Given the description of an element on the screen output the (x, y) to click on. 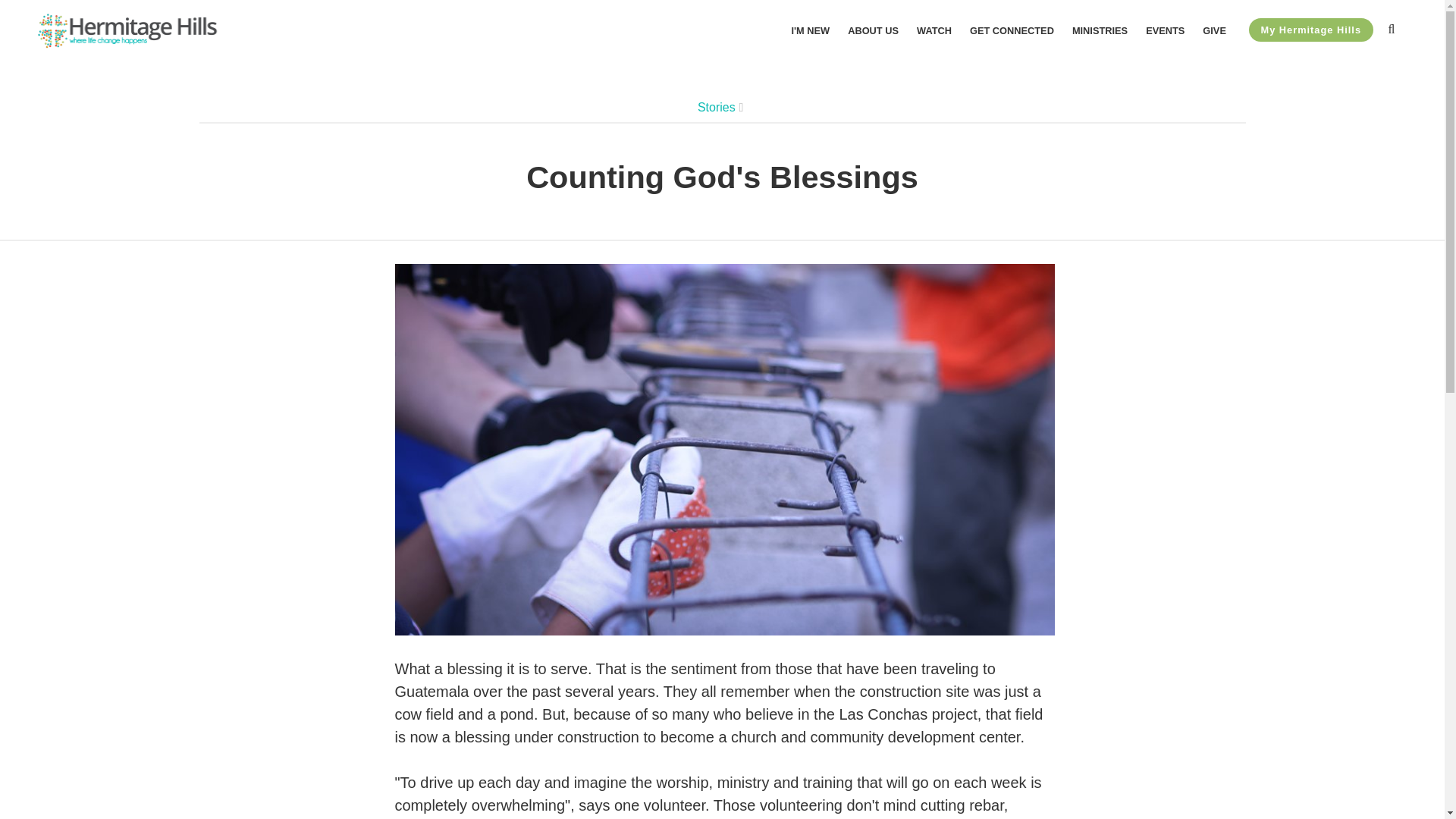
GET CONNECTED (1011, 30)
Stories (716, 106)
ABOUT US (872, 30)
MINISTRIES (1098, 30)
I'M NEW (810, 30)
WATCH (934, 30)
GIVE (1213, 30)
My Hermitage Hills (1310, 29)
EVENTS (1165, 30)
